Given the description of an element on the screen output the (x, y) to click on. 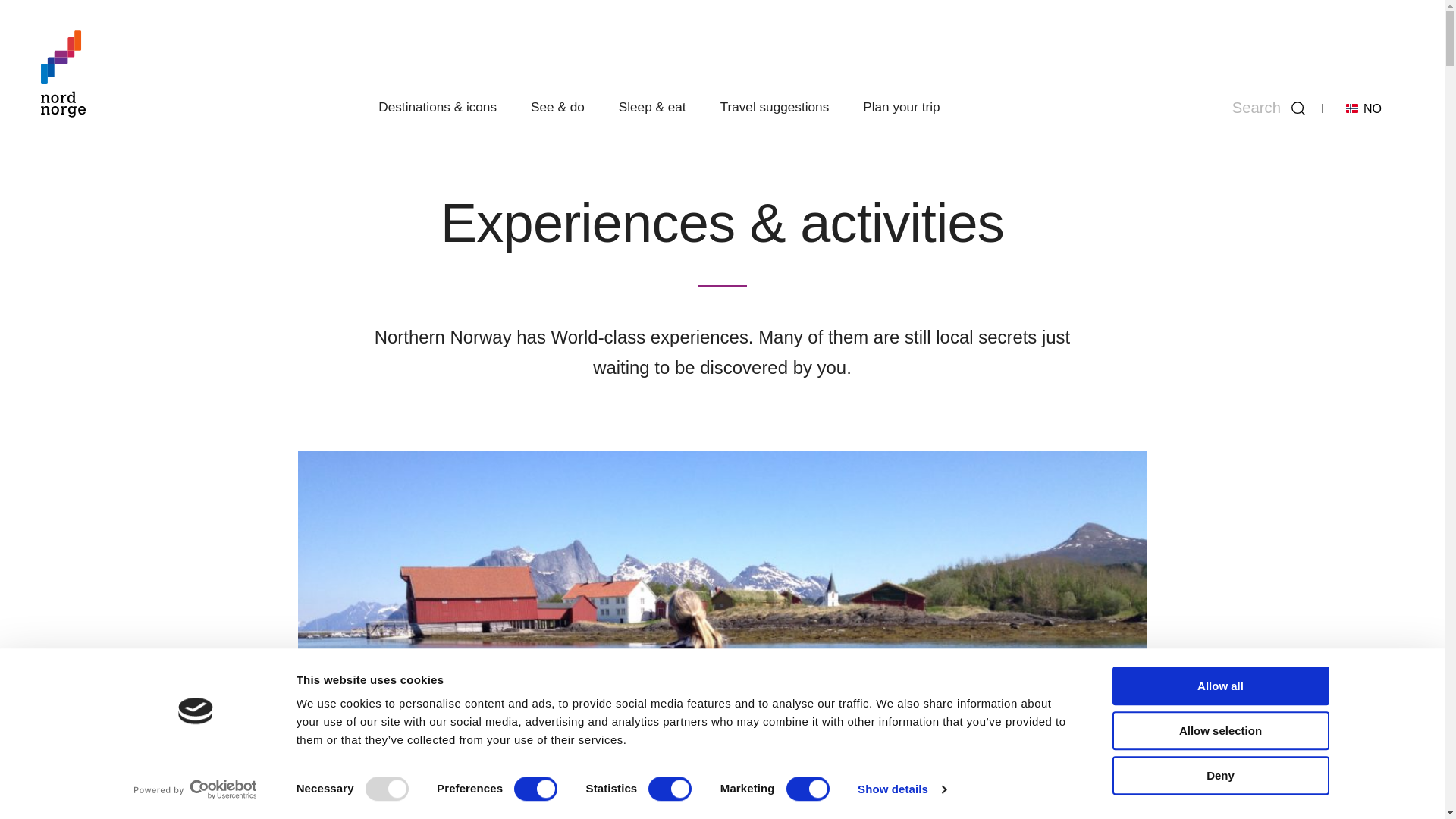
Show details (900, 789)
